Given the description of an element on the screen output the (x, y) to click on. 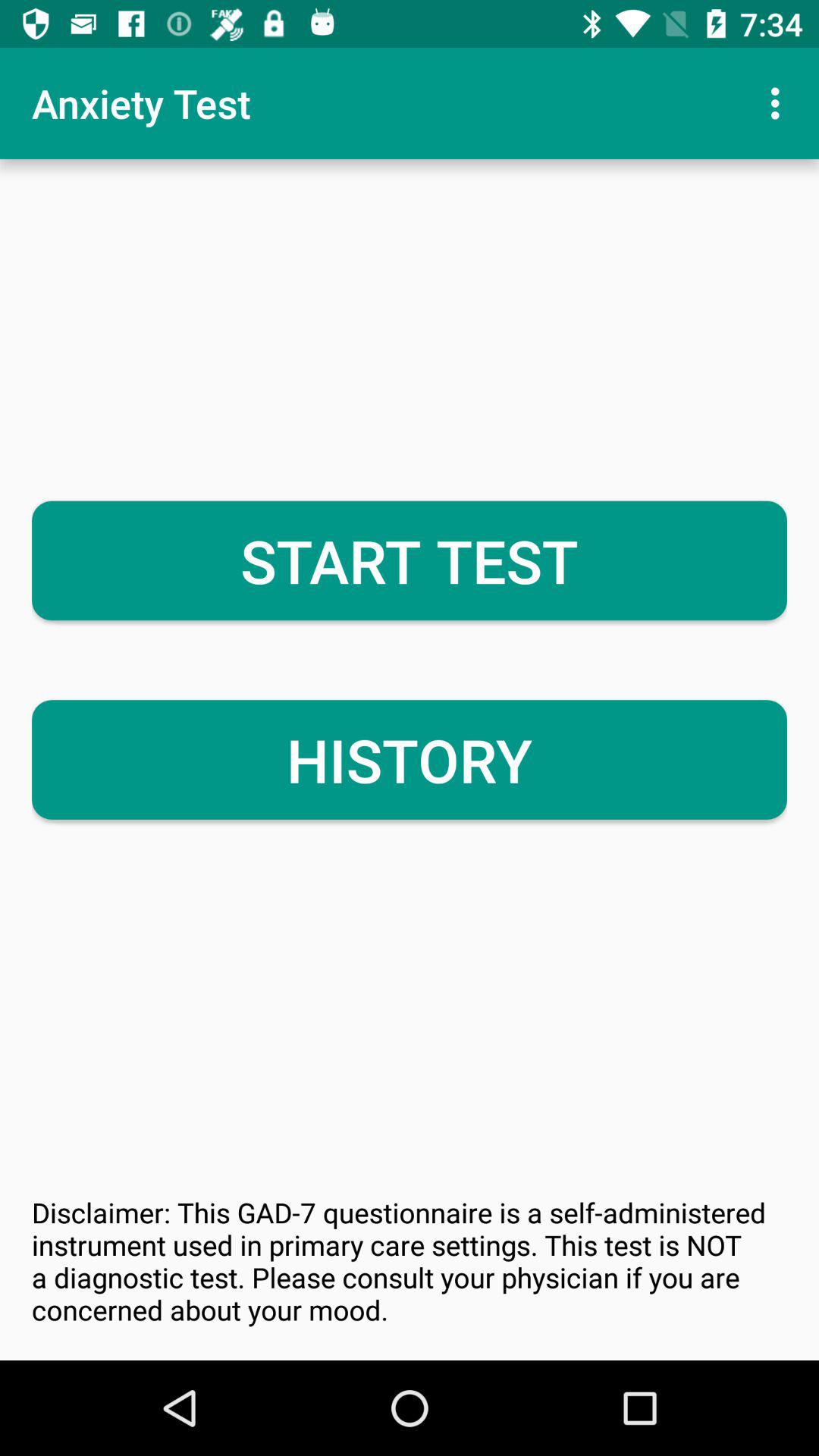
turn off item below the start test icon (409, 759)
